Given the description of an element on the screen output the (x, y) to click on. 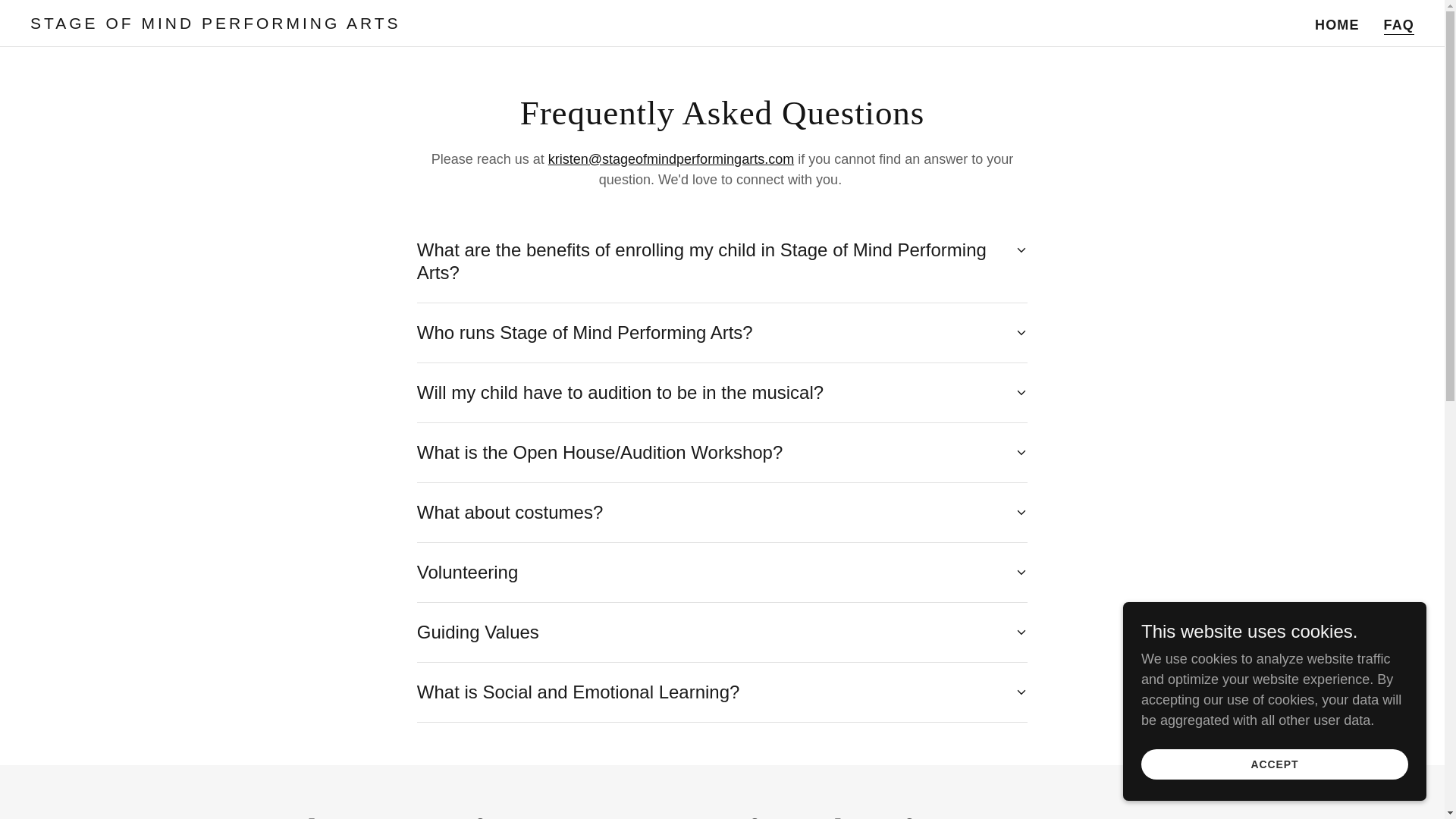
Guiding Values (721, 632)
Volunteering (721, 572)
HOME (1337, 24)
What is Social and Emotional Learning? (721, 692)
Stage of Mind Performing Arts (272, 23)
Will my child have to audition to be in the musical? (721, 392)
What about costumes? (721, 512)
STAGE OF MIND PERFORMING ARTS (272, 23)
FAQ (1398, 25)
